Given the description of an element on the screen output the (x, y) to click on. 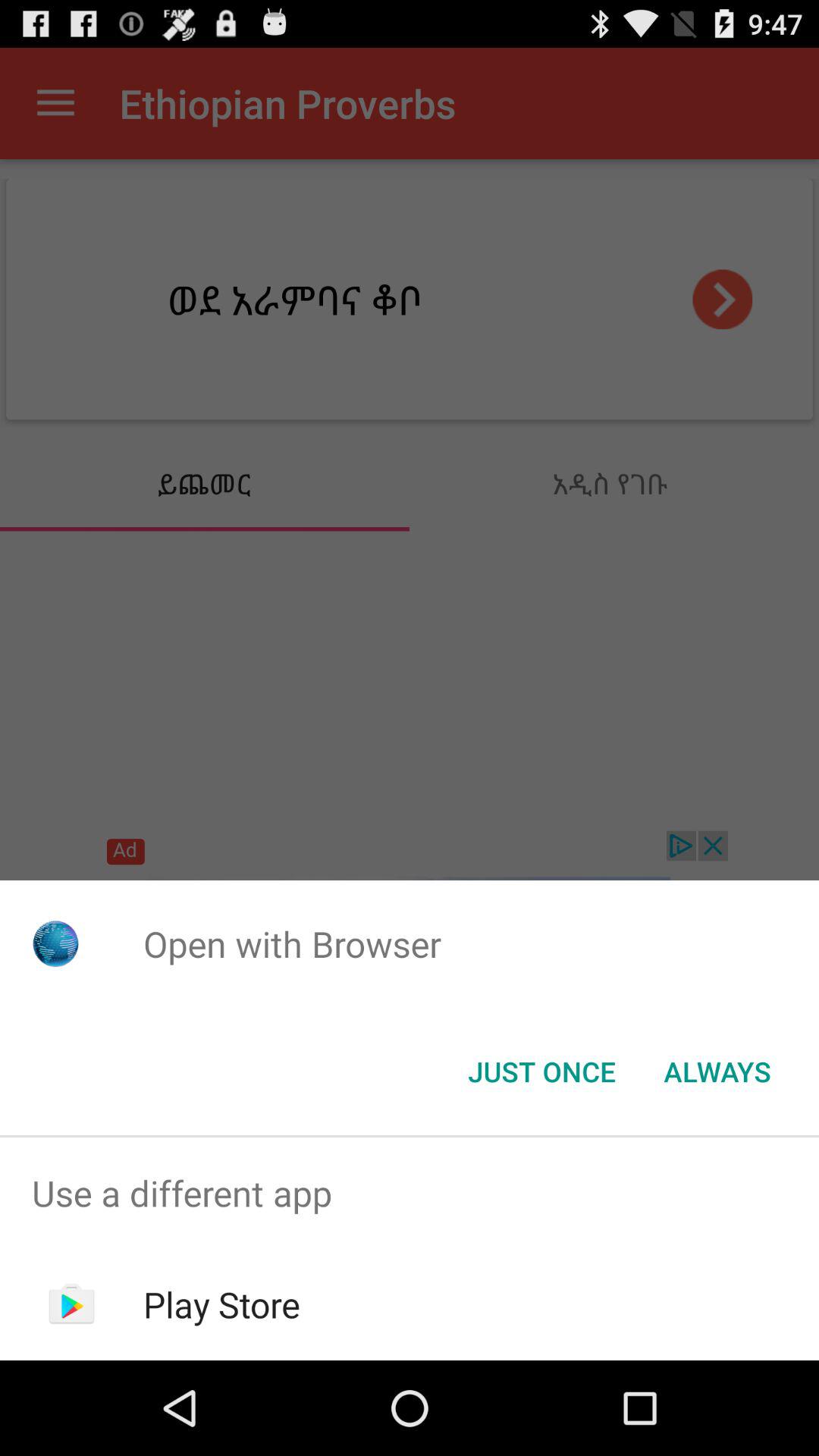
select play store (221, 1304)
